Given the description of an element on the screen output the (x, y) to click on. 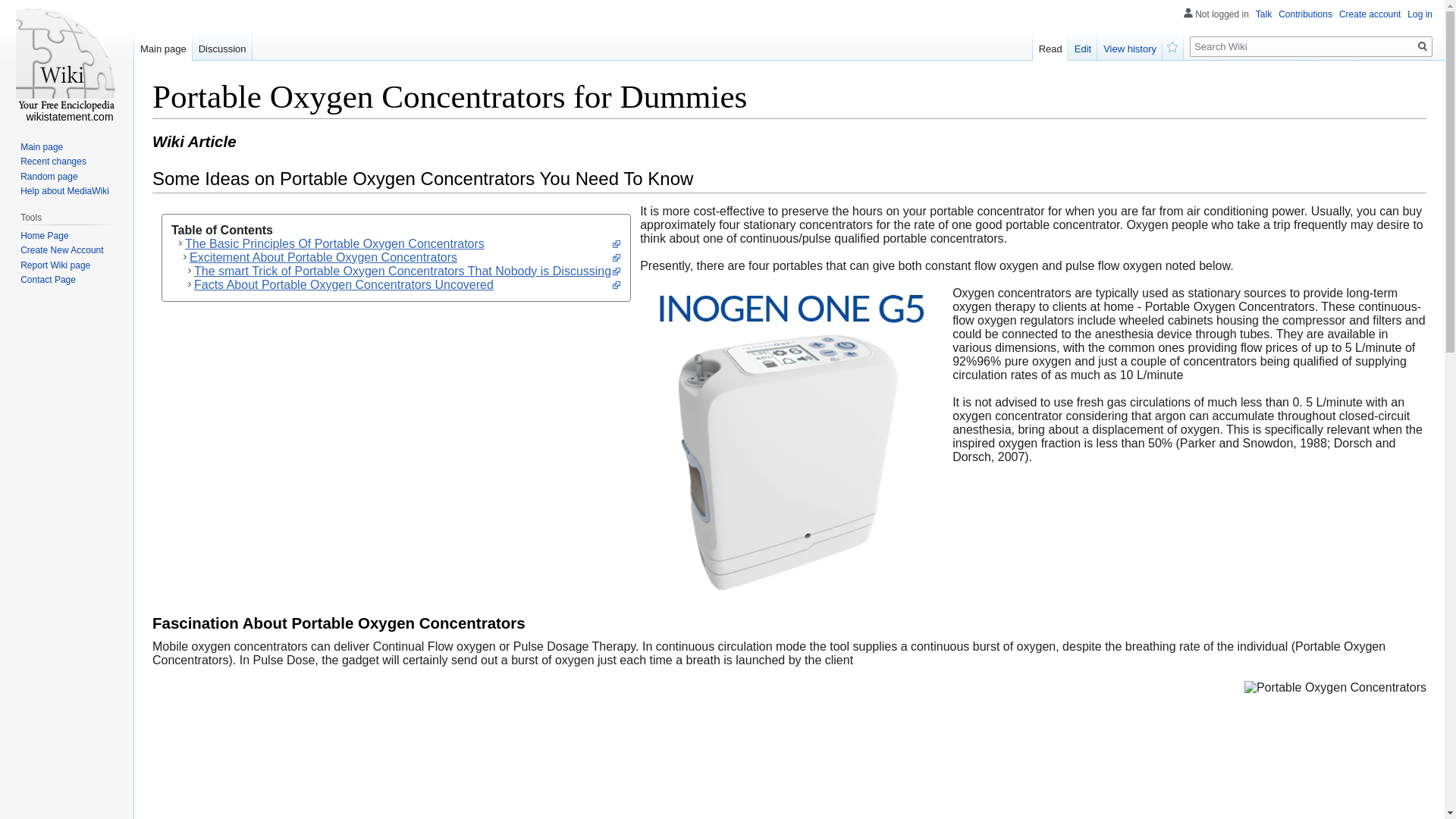
Main page (162, 45)
Search (1422, 46)
Main page (41, 146)
Talk (1263, 14)
Go (1422, 46)
View history (1129, 45)
Read (1050, 45)
Create New Account (61, 249)
The Basic Principles Of Portable Oxygen Concentrators (396, 243)
